Given the description of an element on the screen output the (x, y) to click on. 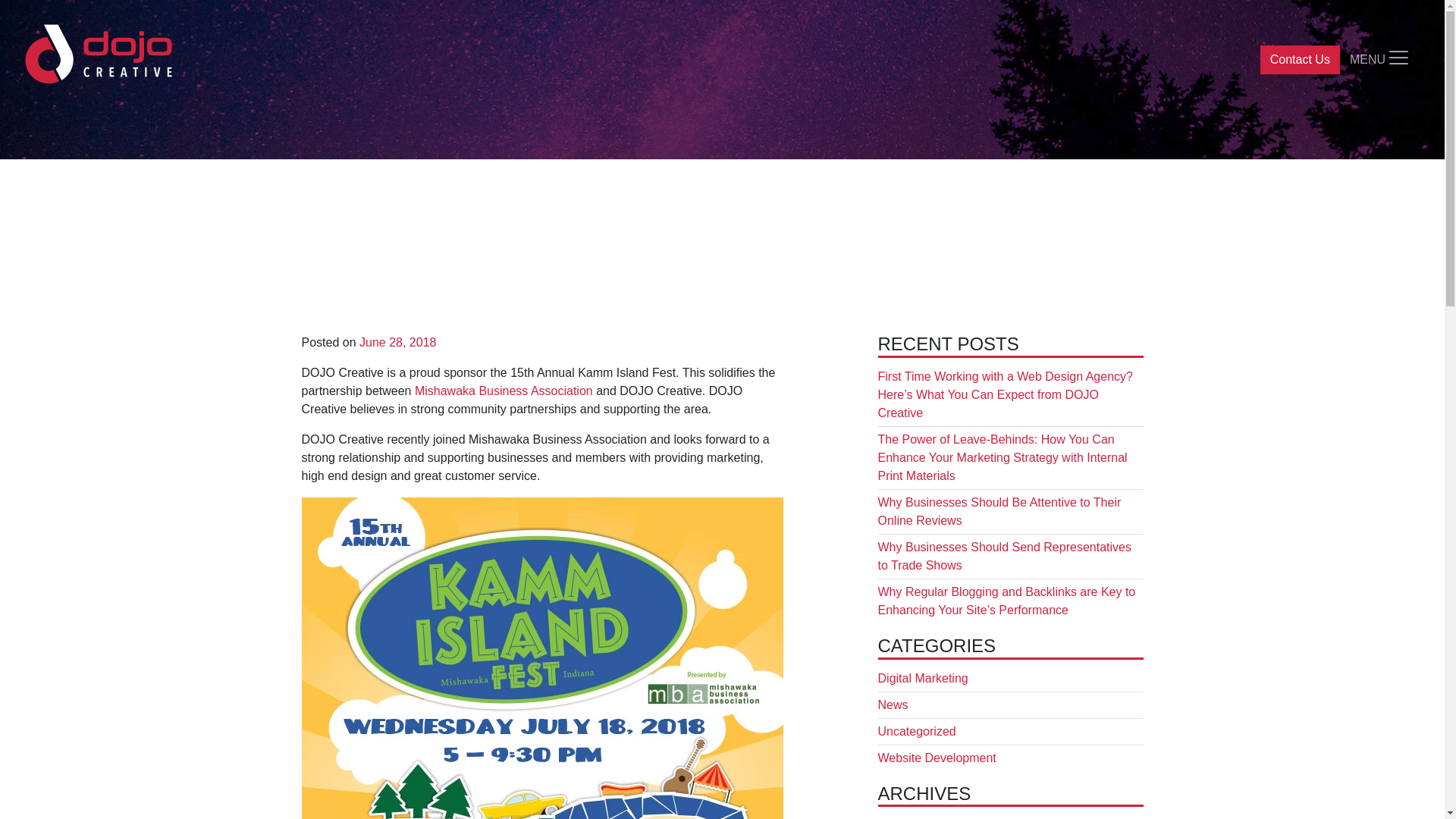
Digital Marketing (922, 677)
Uncategorized (916, 730)
News (892, 704)
Website Development (936, 757)
Mishawaka Business Association (503, 390)
Why Businesses Should Be Attentive to Their Online Reviews (999, 511)
Contact Us (1299, 59)
MENU (1380, 60)
June 28, 2018 (397, 341)
